Given the description of an element on the screen output the (x, y) to click on. 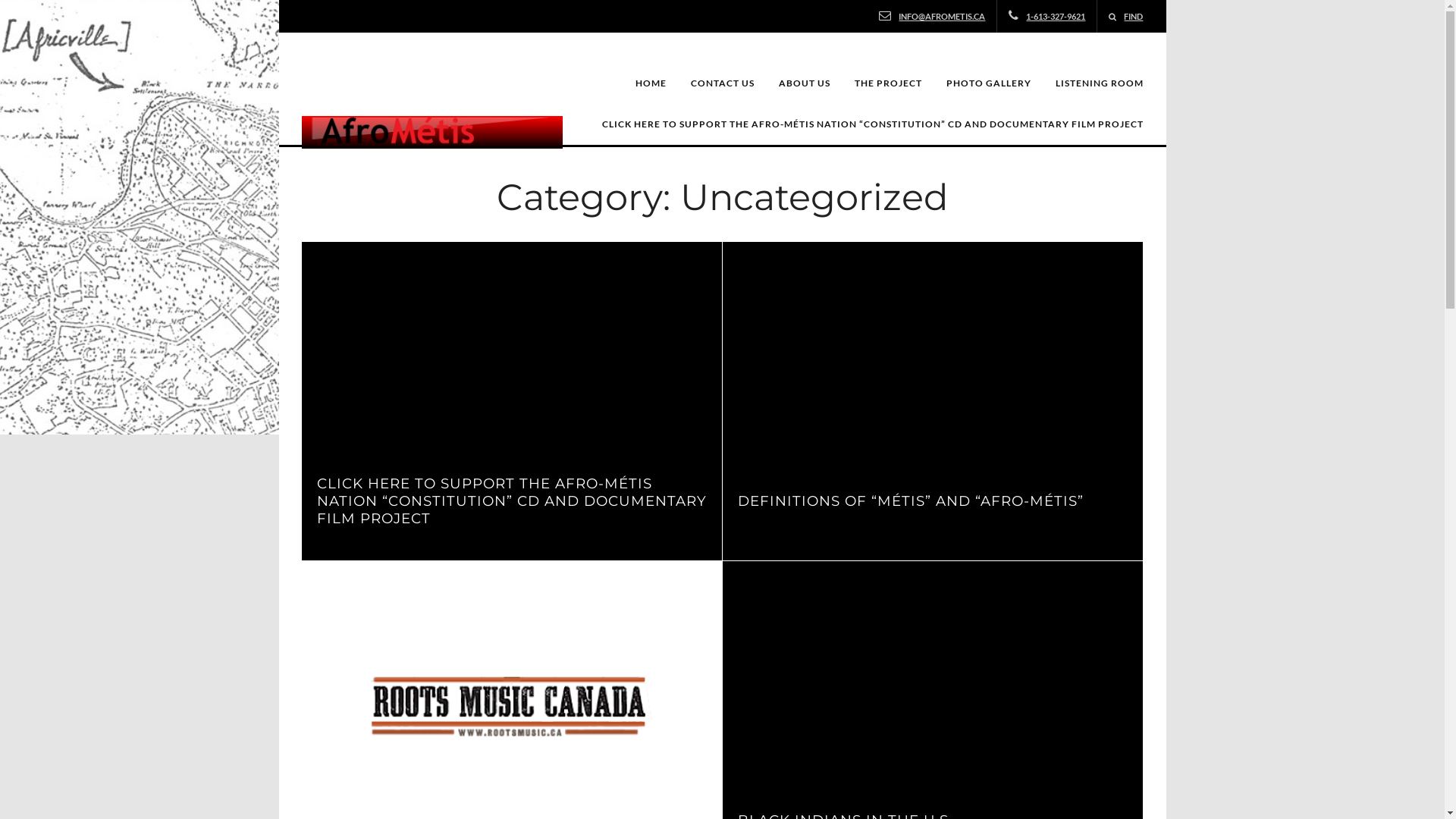
AfroMetis Website Home Element type: hover (432, 81)
PHOTO GALLERY Element type: text (988, 82)
Search Element type: text (33, 14)
THE PROJECT Element type: text (888, 82)
1-613-327-9621 Element type: text (1055, 16)
AfroMetis Website Home Element type: hover (432, 132)
LISTENING ROOM Element type: text (1099, 82)
HOME Element type: text (650, 82)
CONTACT US Element type: text (722, 82)
INFO@AFROMETIS.CA Element type: text (941, 16)
FIND Element type: text (1125, 16)
ABOUT US Element type: text (804, 82)
